Given the description of an element on the screen output the (x, y) to click on. 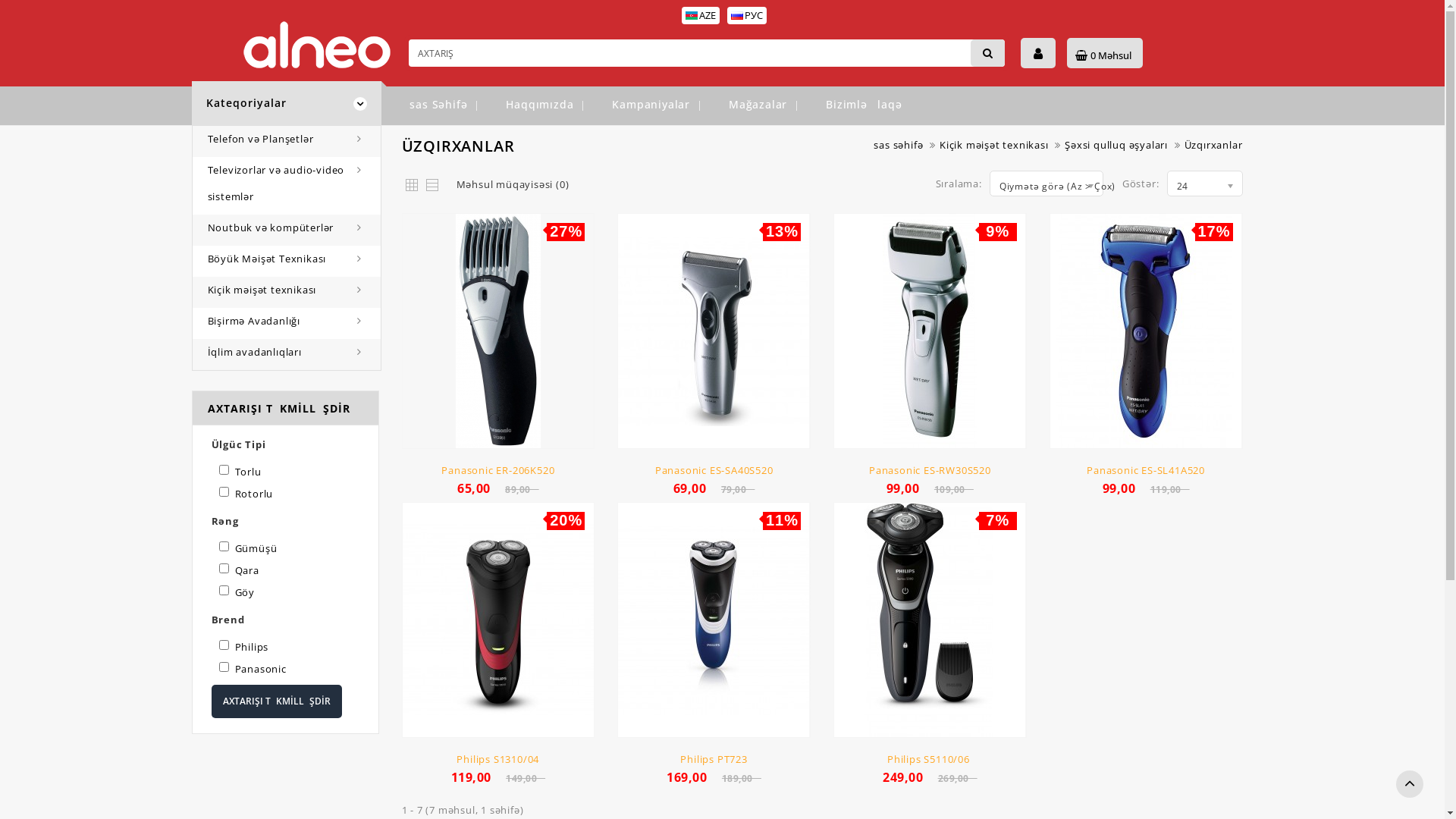
Philips S1310/04 Element type: text (497, 758)
Panasonic ES-SA40S520 Element type: hover (713, 330)
Brend Element type: text (284, 619)
Philips PT723 Element type: hover (713, 619)
Panasonic ES-SA40S520 Element type: text (714, 469)
Philips S1310/04 Element type: hover (497, 619)
Panasonic ER-206K520 Element type: text (497, 469)
Alneo Element type: hover (316, 44)
Philips PT723 Element type: text (713, 758)
Panasonic ES-SL41A520 Element type: hover (1145, 330)
Panasonic ER-206K520 Element type: hover (497, 330)
Philips S5110/06  Element type: text (929, 758)
AZE Element type: text (700, 15)
Panasonic ES-RW30S520 Element type: hover (929, 330)
Panasonic ES-SL41A520 Element type: text (1145, 469)
TOP Element type: text (1409, 783)
AZE Element type: hover (691, 15)
Panasonic ES-RW30S520 Element type: text (930, 469)
Kampaniyalar Element type: text (650, 104)
